Given the description of an element on the screen output the (x, y) to click on. 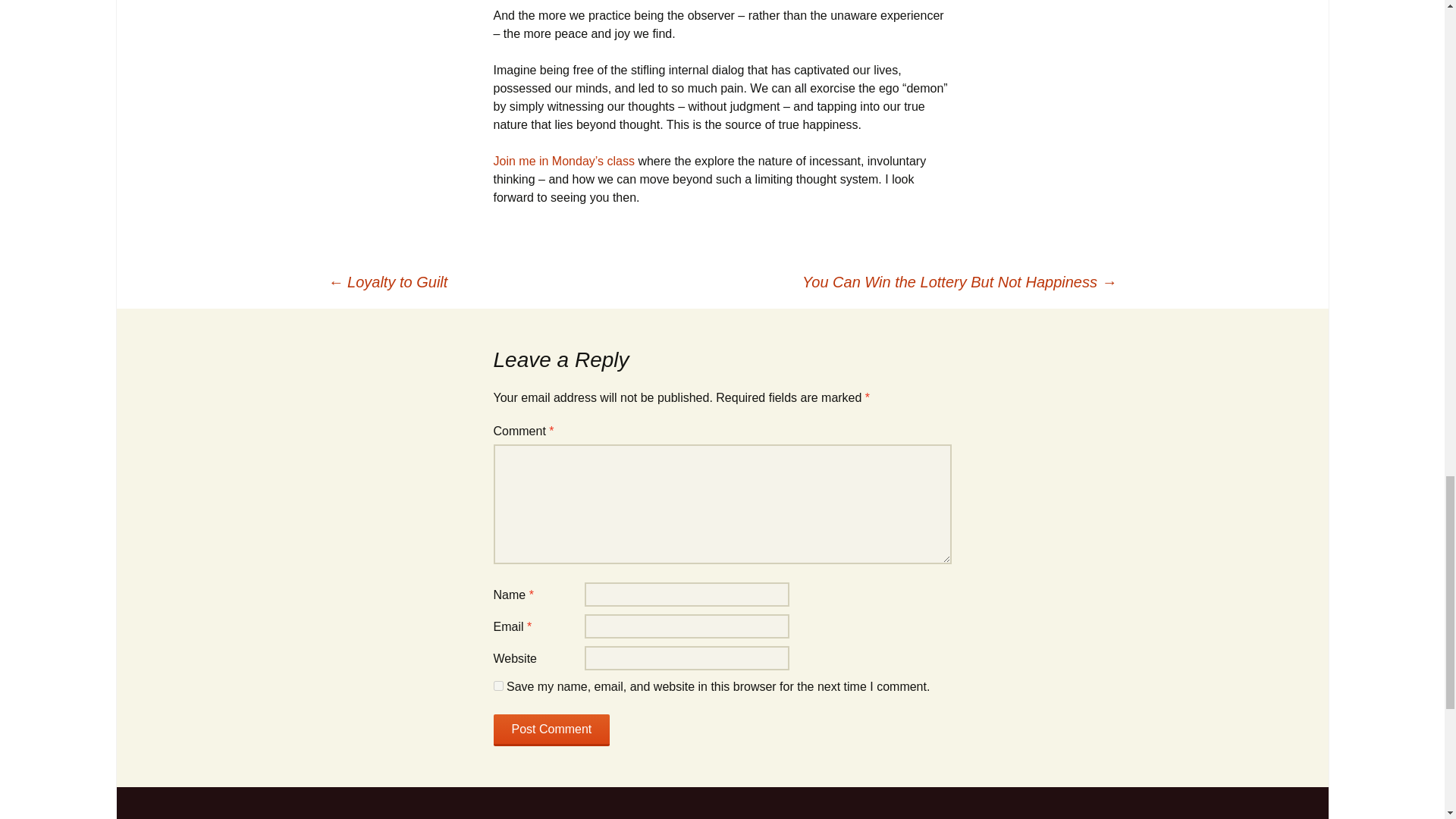
yes (497, 685)
Post Comment (551, 730)
Post Comment (551, 730)
